Given the description of an element on the screen output the (x, y) to click on. 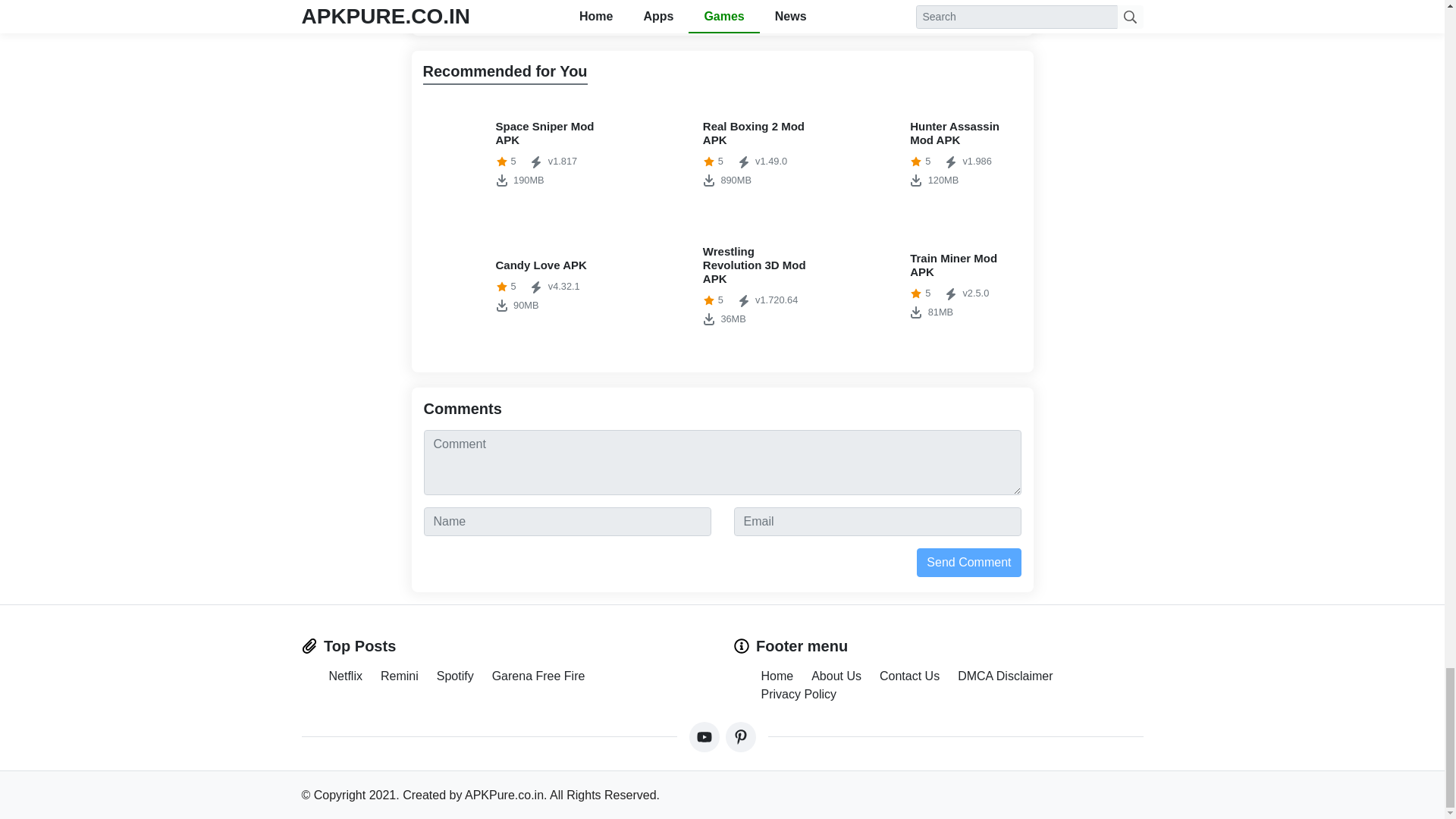
 Train Miner Mod APK (515, 153)
Send Comment (929, 286)
 Wrestling Revolution 3D Mod APK (968, 562)
 Real Boxing 2 Mod APK (515, 286)
Garena Free Fire (721, 286)
Remini (721, 153)
